Given the description of an element on the screen output the (x, y) to click on. 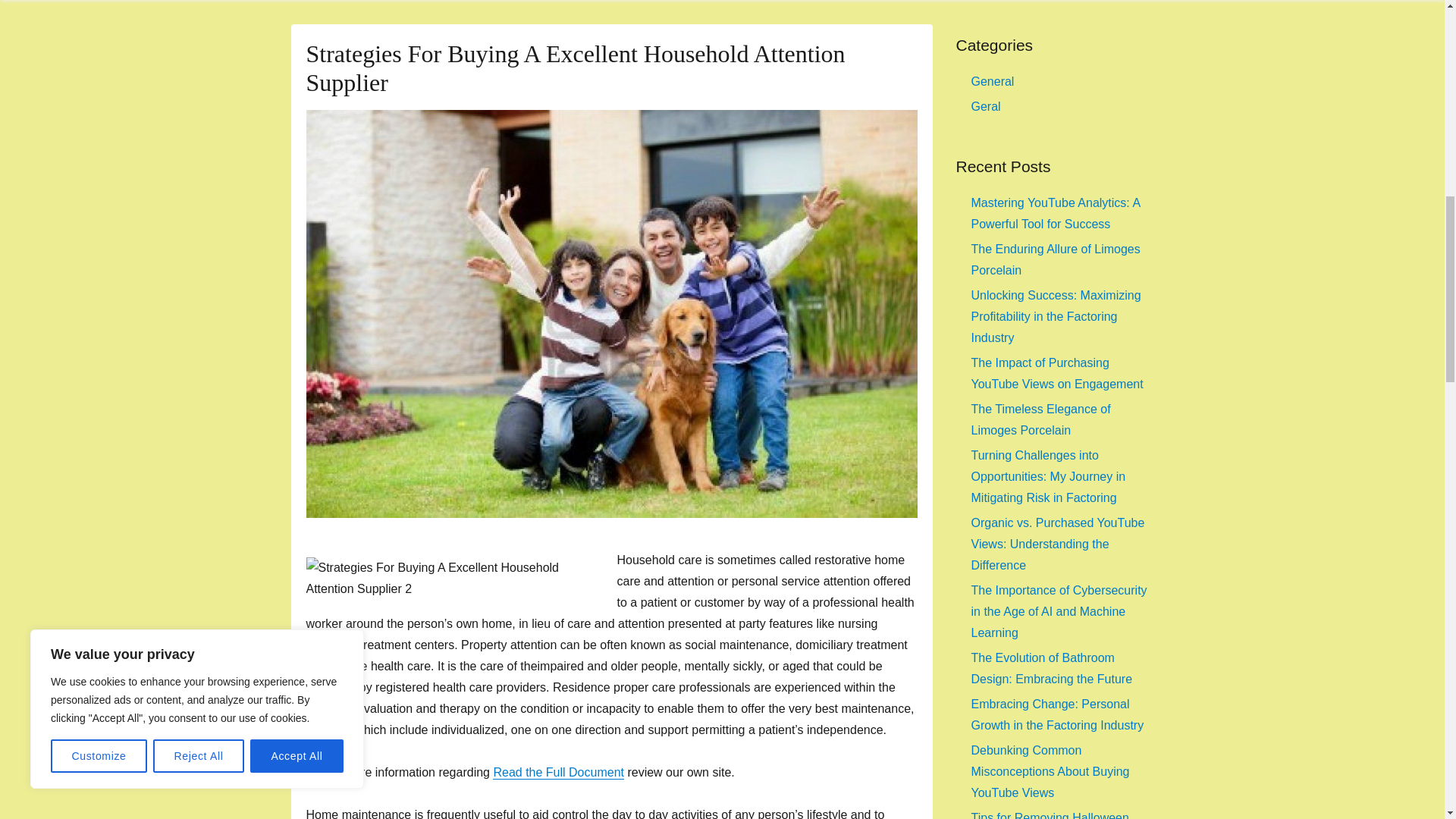
The Enduring Allure of Limoges Porcelain (1055, 259)
Read the Full Document (558, 771)
General (992, 81)
Geral (985, 106)
Mastering YouTube Analytics: A Powerful Tool for Success (1055, 213)
